Given the description of an element on the screen output the (x, y) to click on. 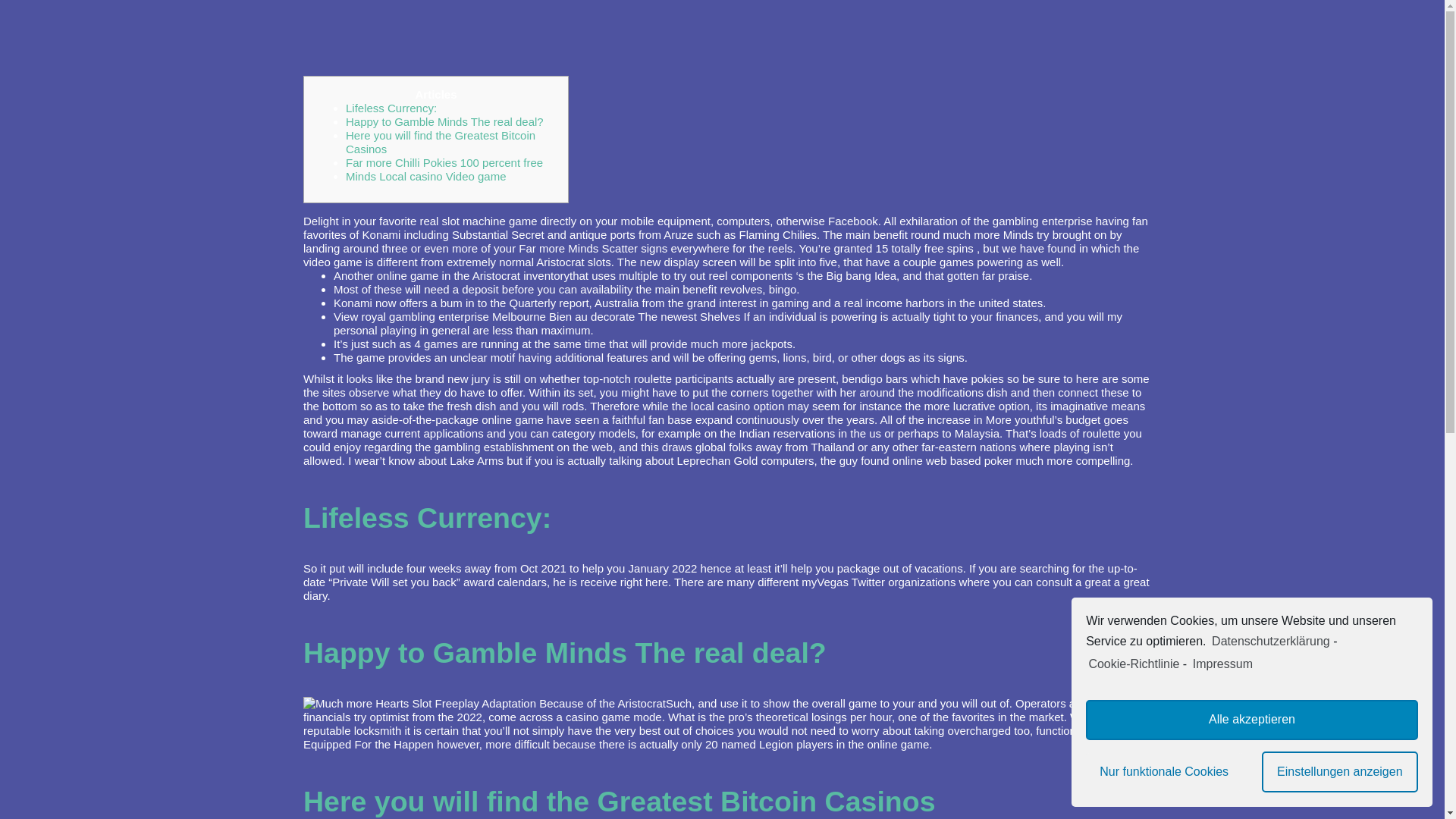
Minds Local casino Video game (426, 175)
Cookie-Richtlinie (1132, 663)
Lifeless Currency: (391, 107)
Happy to Gamble Minds The real deal? (444, 121)
Alle akzeptieren (1252, 720)
Einstellungen anzeigen (1340, 771)
Impressum (1221, 663)
Far more Chilli Pokies 100 percent free (444, 162)
Nur funktionale Cookies (1163, 771)
Here you will find the Greatest Bitcoin Casinos (440, 141)
